Given the description of an element on the screen output the (x, y) to click on. 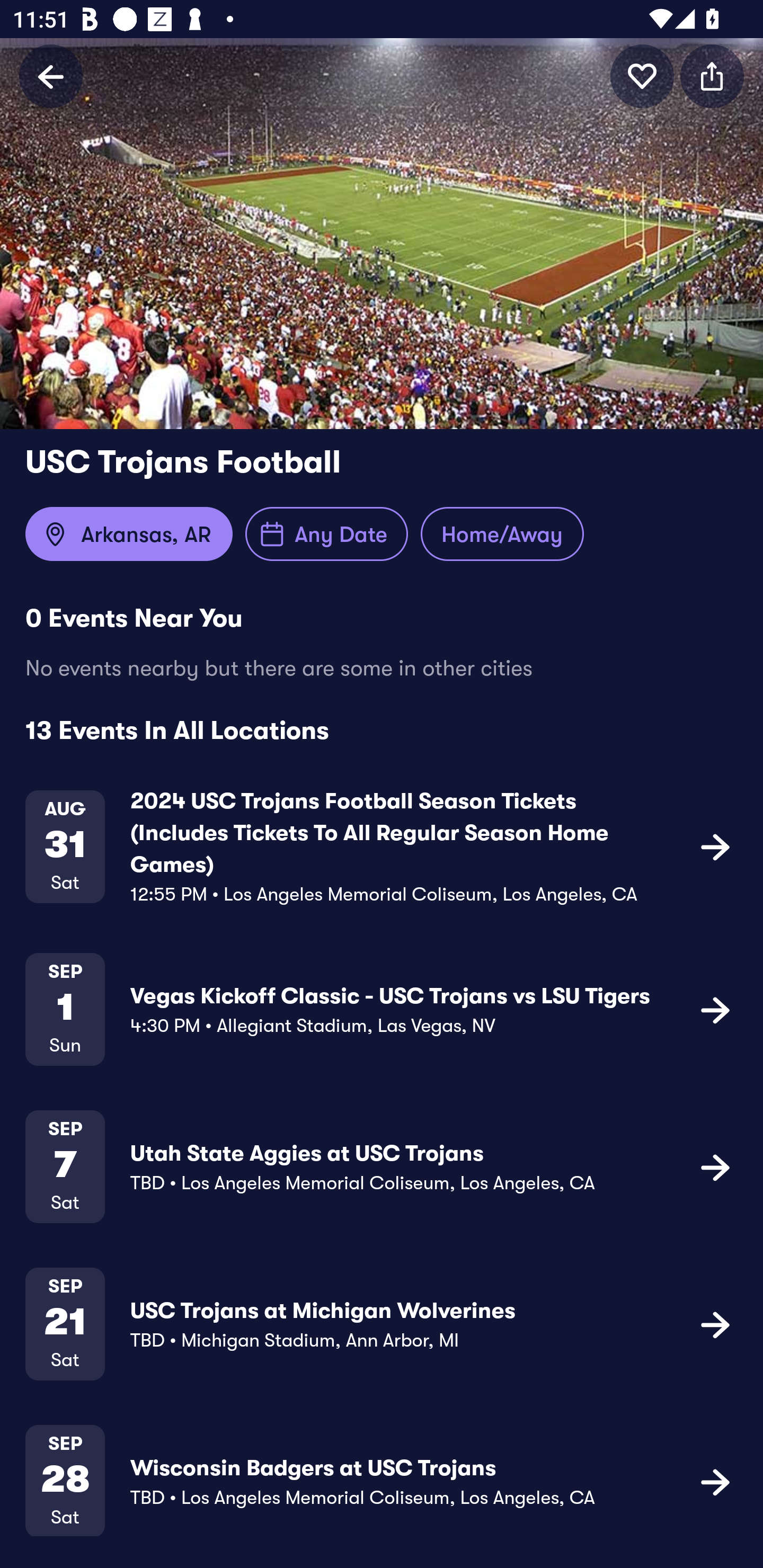
Back (50, 75)
icon button (641, 75)
icon button (711, 75)
Arkansas, AR (128, 533)
Any Date (326, 533)
Home/Away (501, 533)
icon button (714, 846)
icon button (714, 1009)
icon button (714, 1166)
icon button (714, 1323)
icon button (714, 1481)
